Given the description of an element on the screen output the (x, y) to click on. 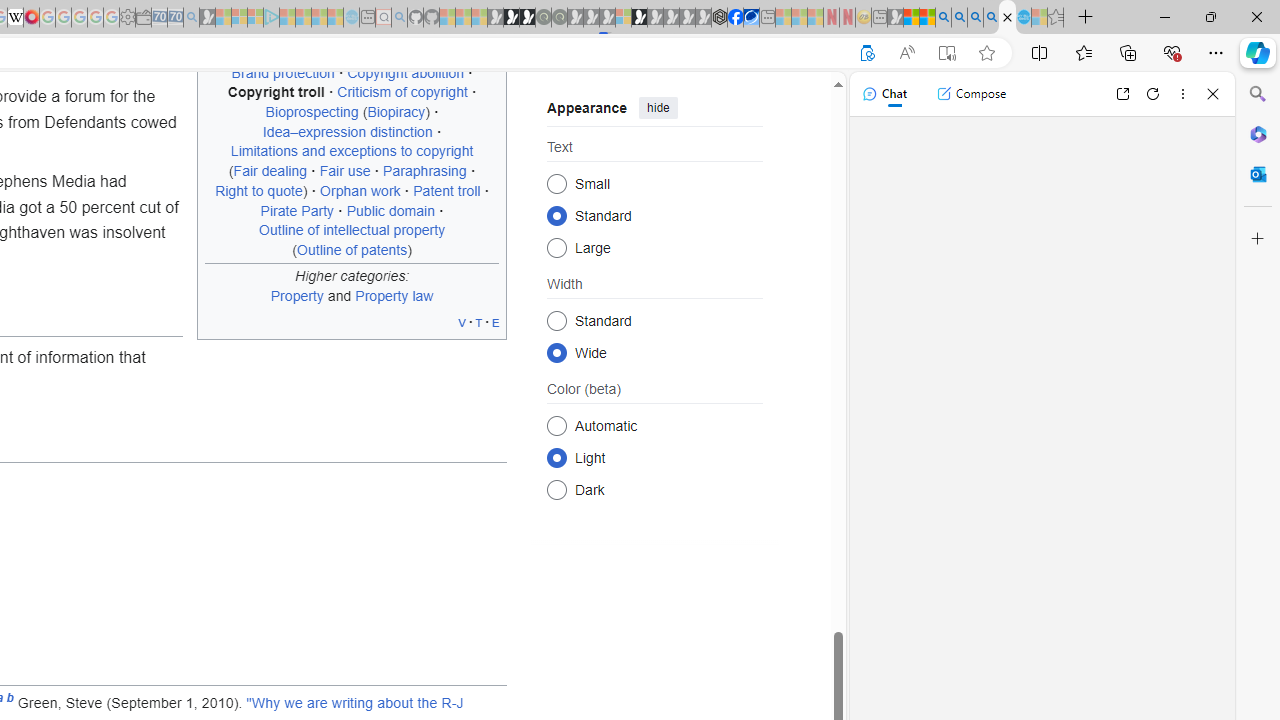
Bioprospecting (311, 111)
b (10, 703)
Services - Maintenance | Sky Blue Bikes - Sky Blue Bikes (1023, 17)
Pirate Party (297, 210)
Future Focus Report 2024 - Sleeping (559, 17)
Sign in to your account - Sleeping (623, 17)
Class: mw-list-item mw-list-item-js (654, 457)
